Given the description of an element on the screen output the (x, y) to click on. 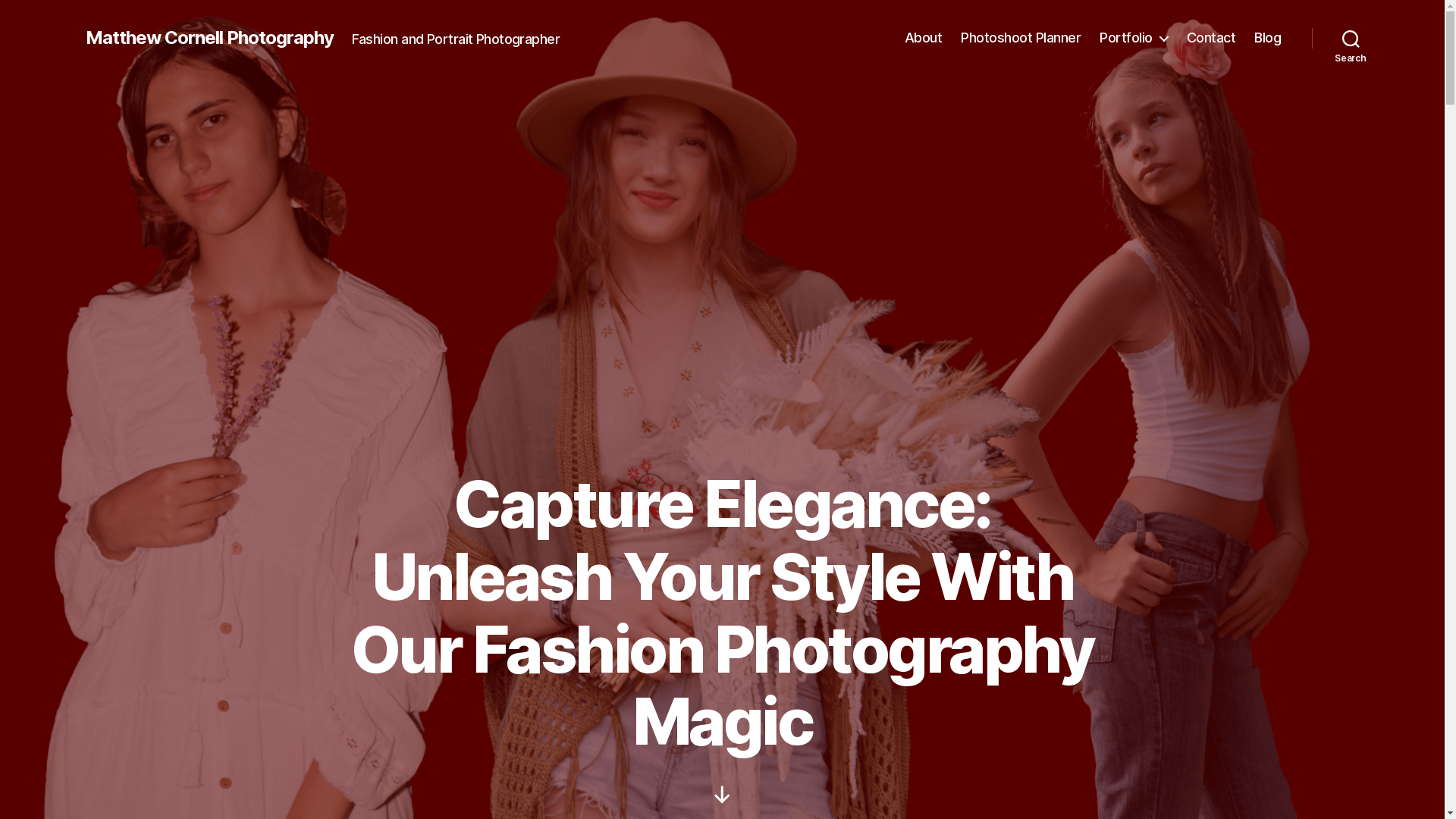
Portfolio Element type: text (1133, 37)
Blog Element type: text (1267, 37)
About Element type: text (923, 37)
Scroll Down Element type: text (722, 794)
Search Element type: text (1350, 37)
Photoshoot Planner Element type: text (1020, 37)
Contact Element type: text (1211, 37)
Matthew Cornell Photography Element type: text (208, 37)
